Given the description of an element on the screen output the (x, y) to click on. 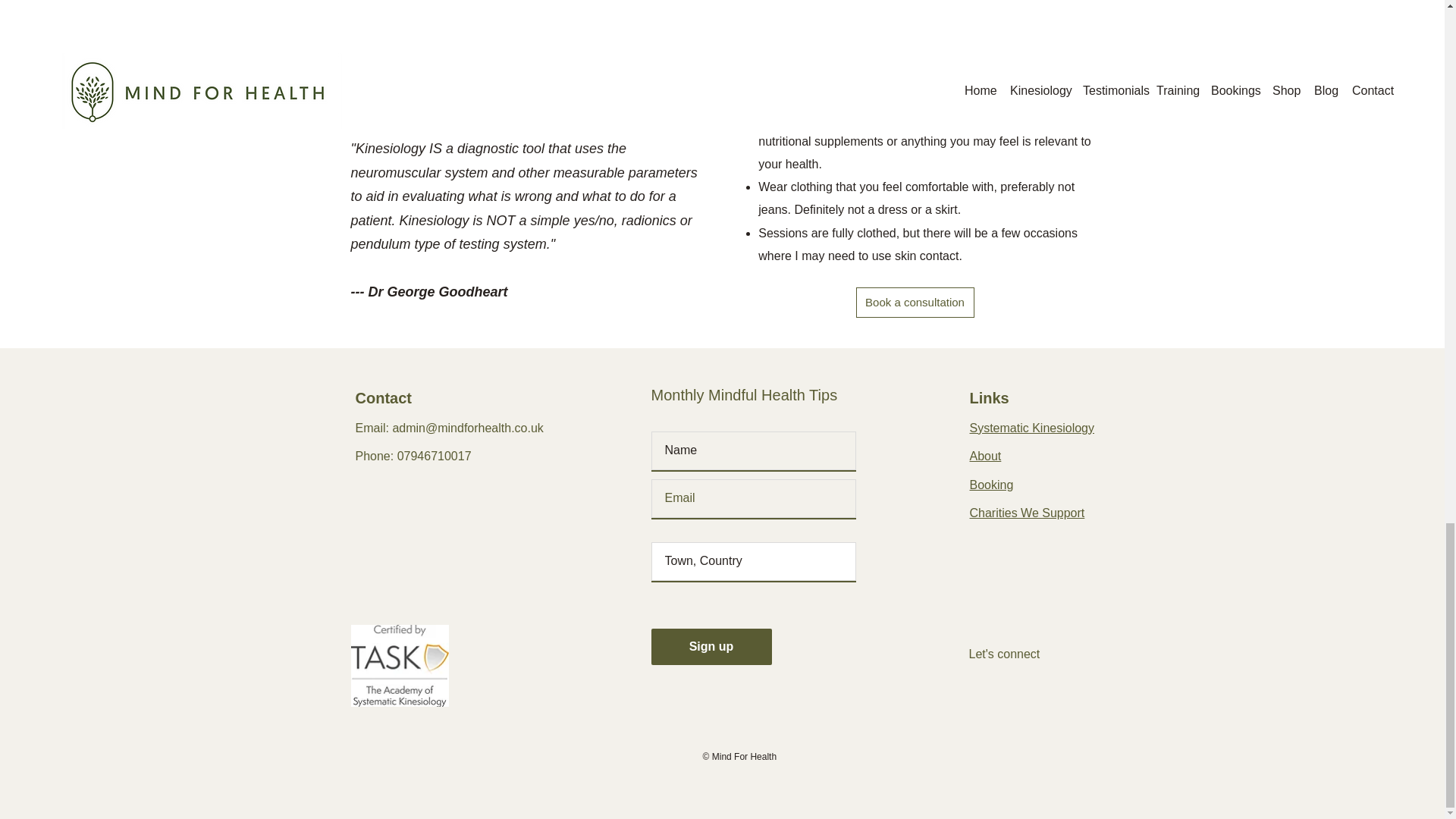
Book a consultation (915, 302)
Sign up (710, 646)
Phone: 07946710017 (412, 455)
Links (989, 397)
Charities We Support (1026, 512)
Systematic Kinesiology (1031, 427)
Booking (991, 484)
Contact (382, 397)
About (985, 455)
